Given the description of an element on the screen output the (x, y) to click on. 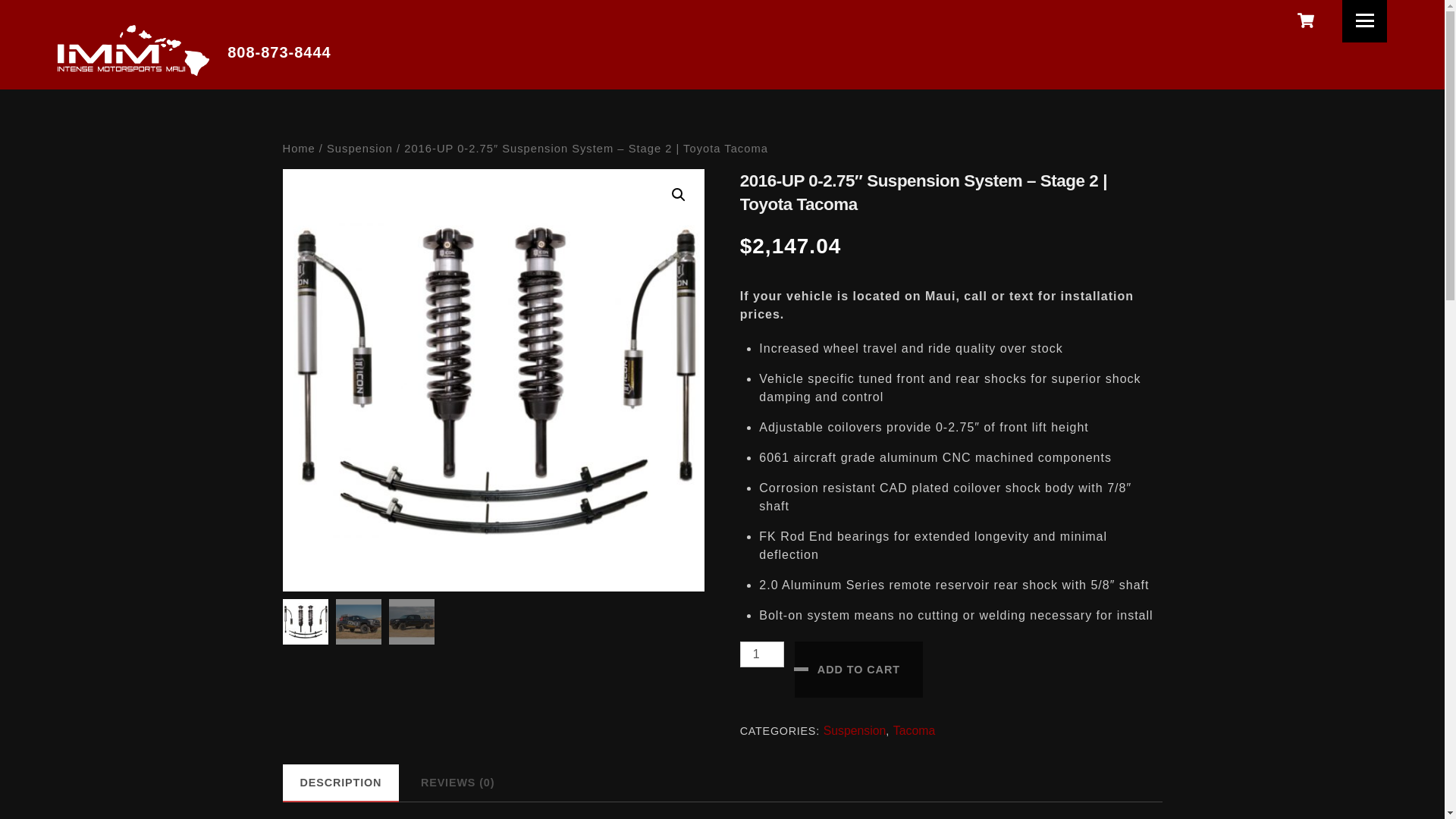
Suspension (855, 730)
Tacoma (913, 730)
1 (761, 654)
Menu (1364, 21)
Home (298, 148)
Suspension (359, 148)
Intense Motorsports Maui (133, 68)
DESCRIPTION (340, 782)
Qty (761, 654)
whitelogo (133, 50)
ADD TO CART (858, 669)
